Given the description of an element on the screen output the (x, y) to click on. 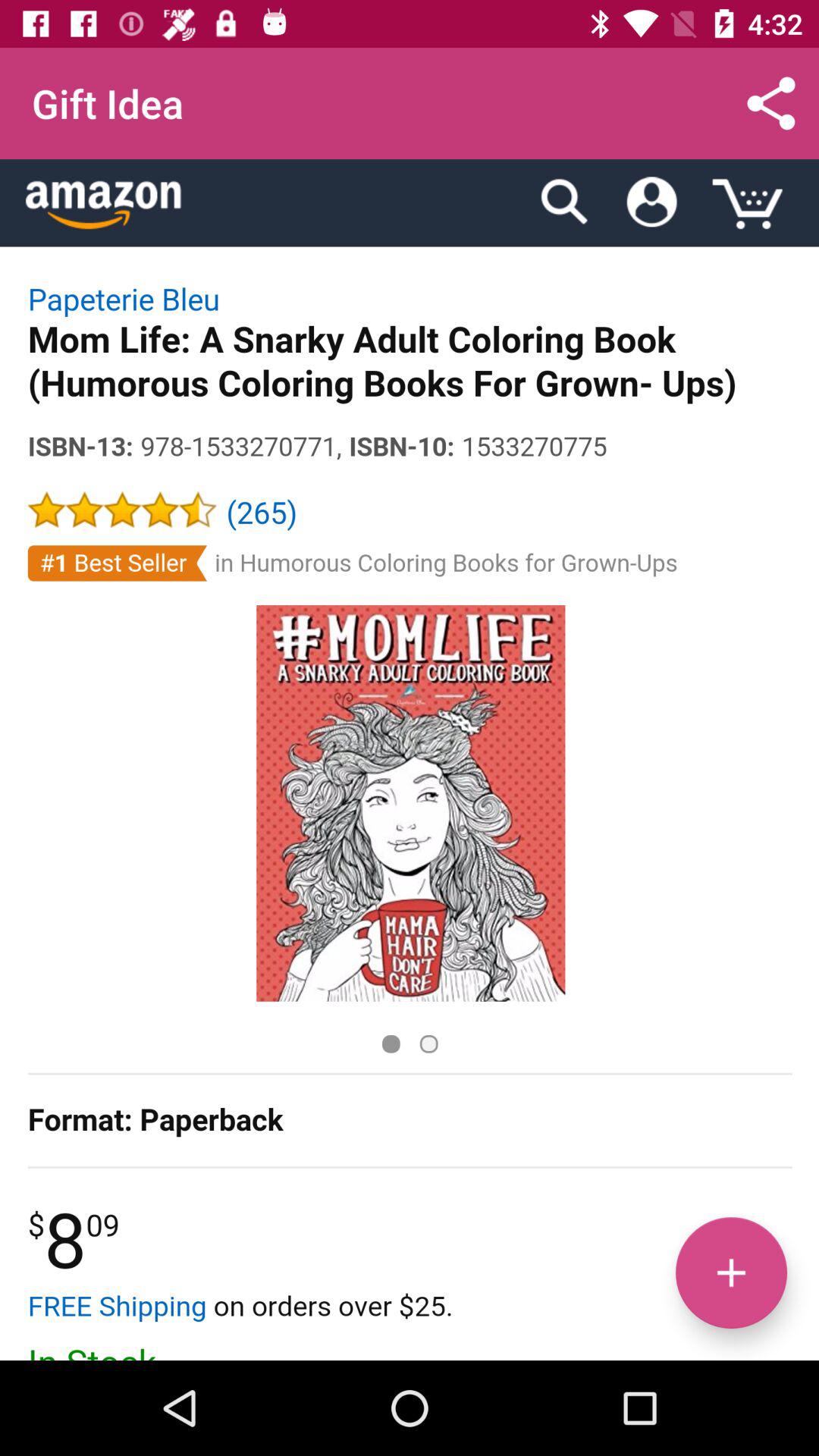
click add button (731, 1272)
